Given the description of an element on the screen output the (x, y) to click on. 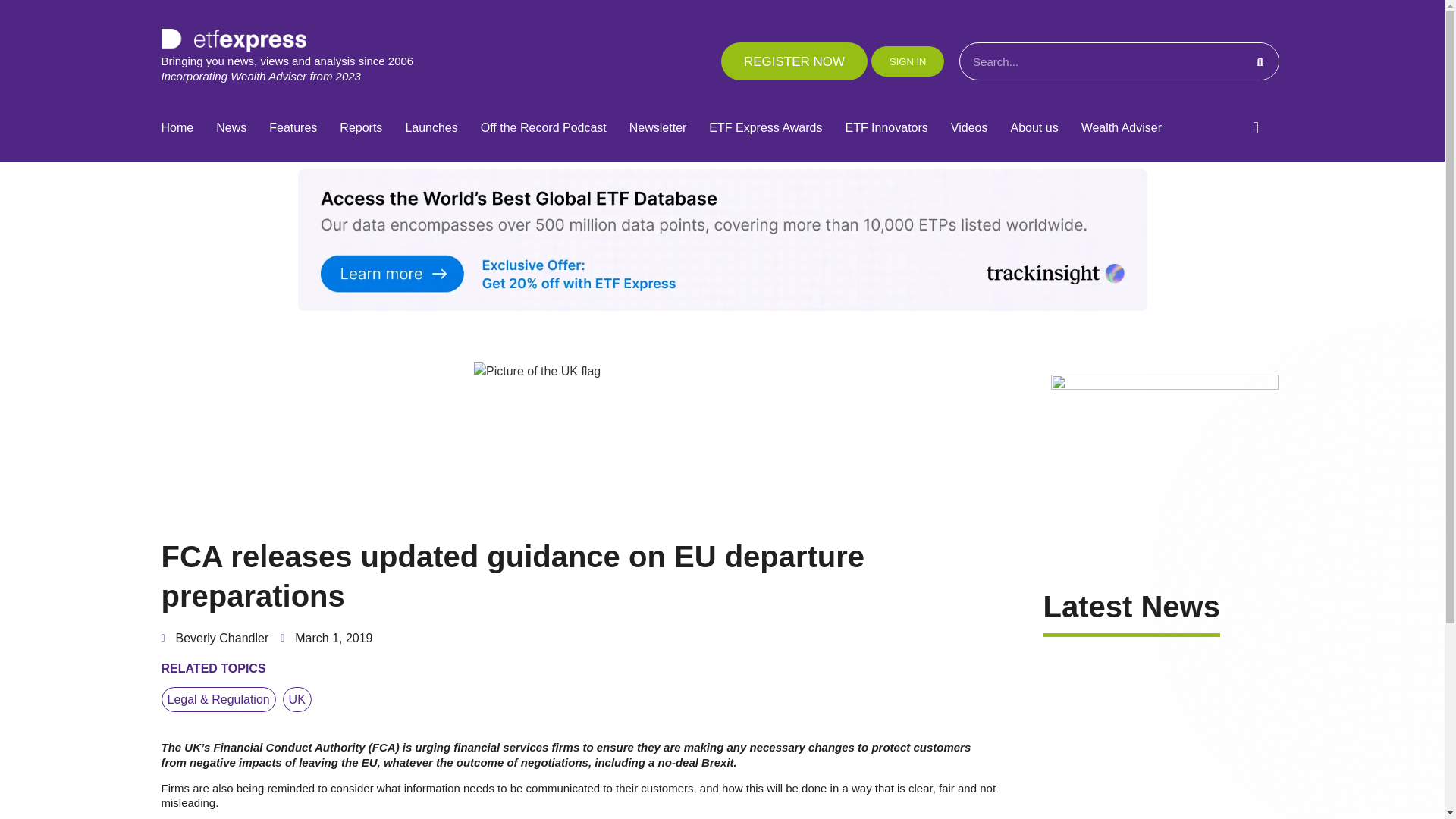
SIGN IN (906, 60)
News (230, 128)
REGISTER NOW (793, 61)
Home (176, 128)
Features (293, 128)
